Given the description of an element on the screen output the (x, y) to click on. 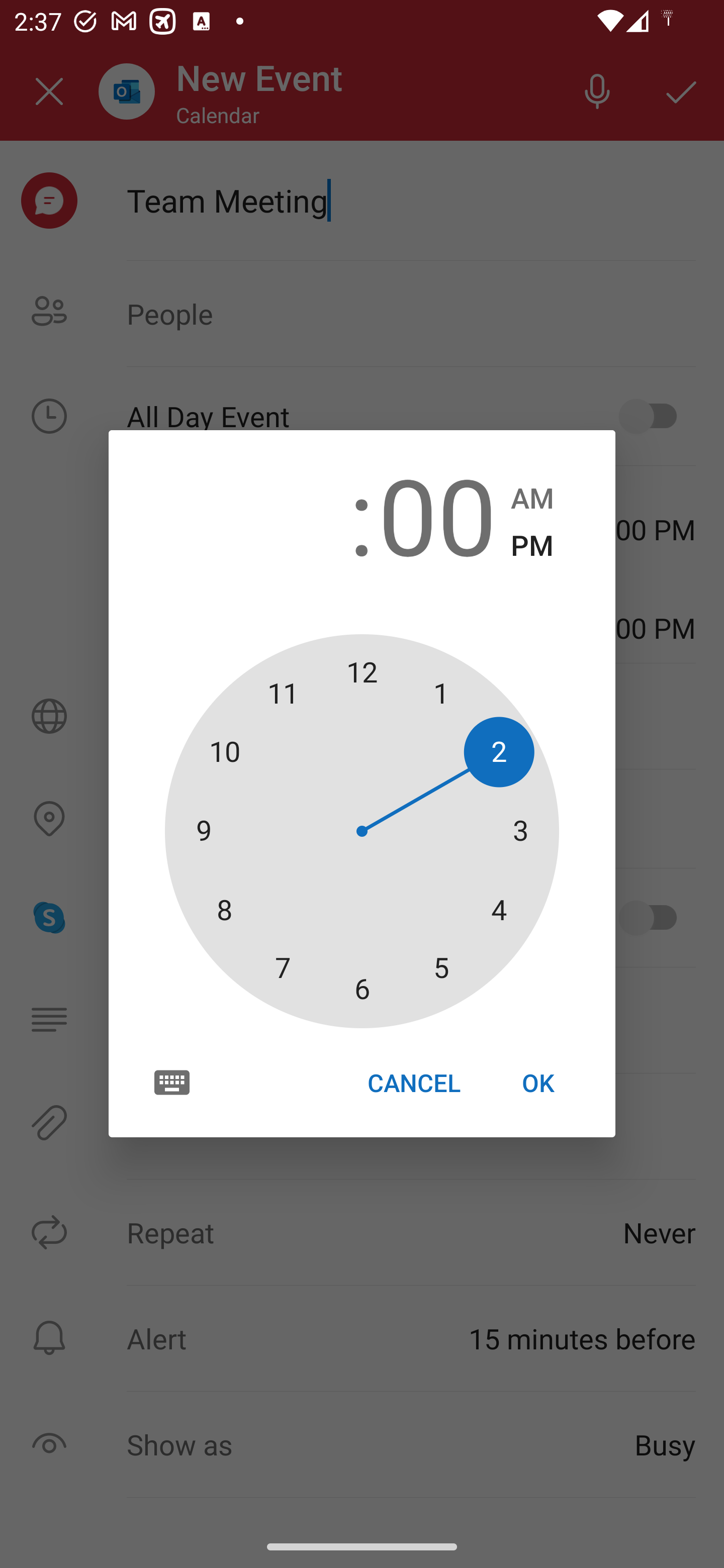
2 (285, 513)
00 (436, 513)
AM (532, 498)
PM (532, 546)
CANCEL (413, 1082)
OK (537, 1082)
Switch to text input mode for the time input. (171, 1081)
